Given the description of an element on the screen output the (x, y) to click on. 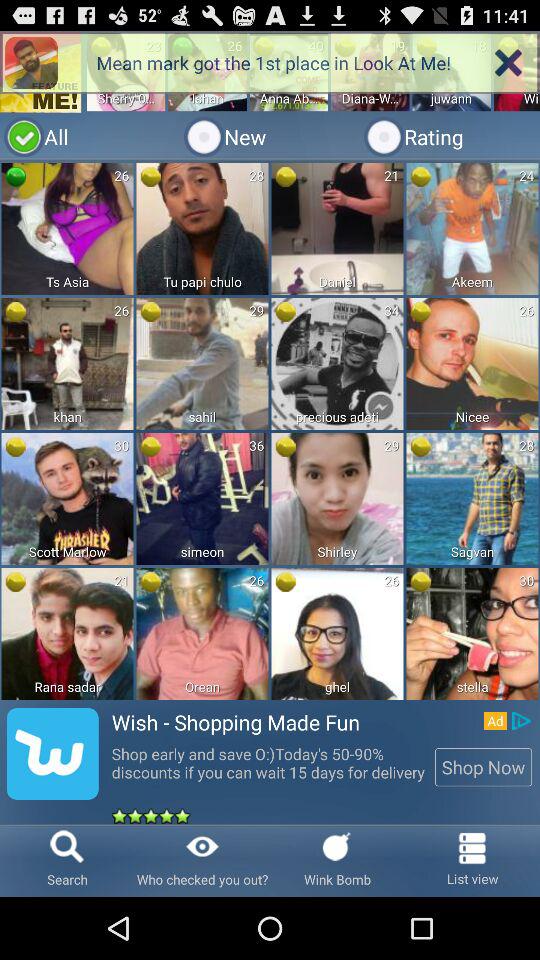
select the option which is to the left of the list view (378, 859)
